Given the description of an element on the screen output the (x, y) to click on. 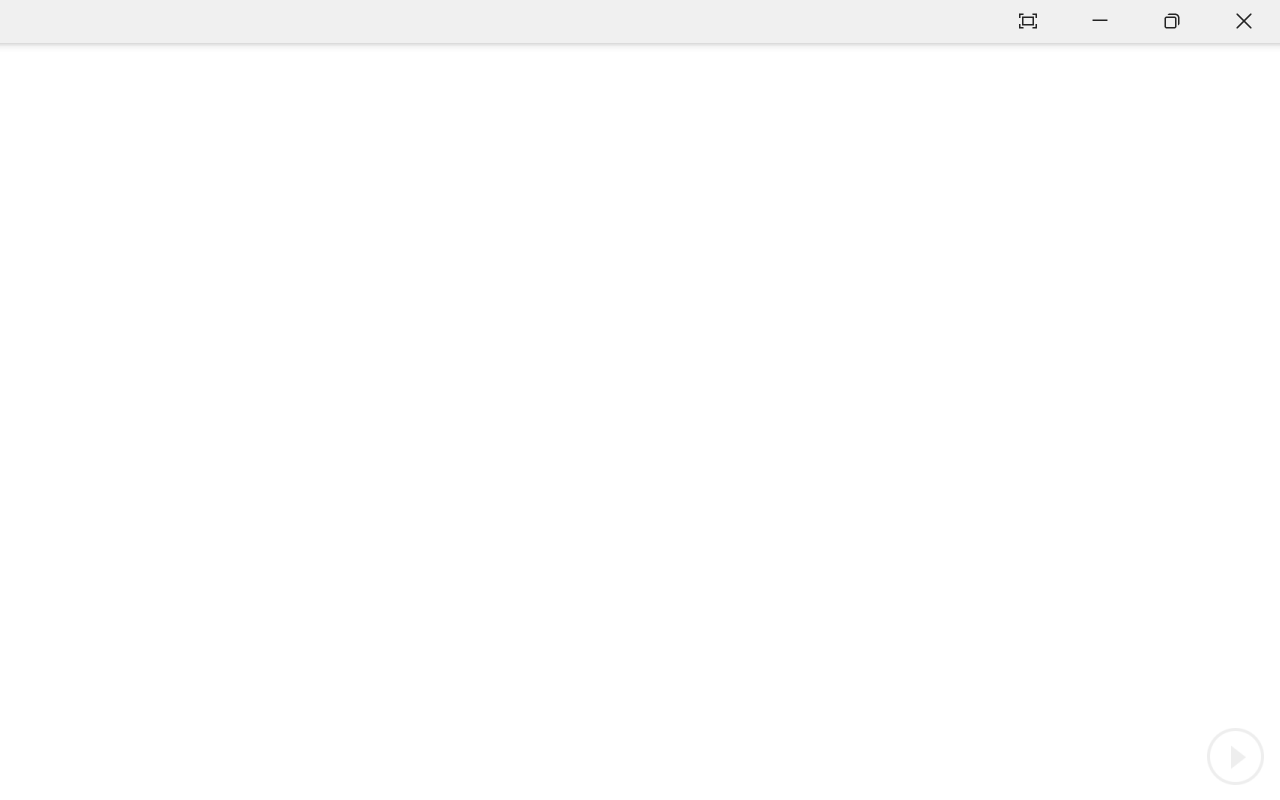
Minimize (1099, 21)
Auto-hide Reading Toolbar (1027, 21)
Restore Down (1172, 21)
Close (1244, 21)
